Given the description of an element on the screen output the (x, y) to click on. 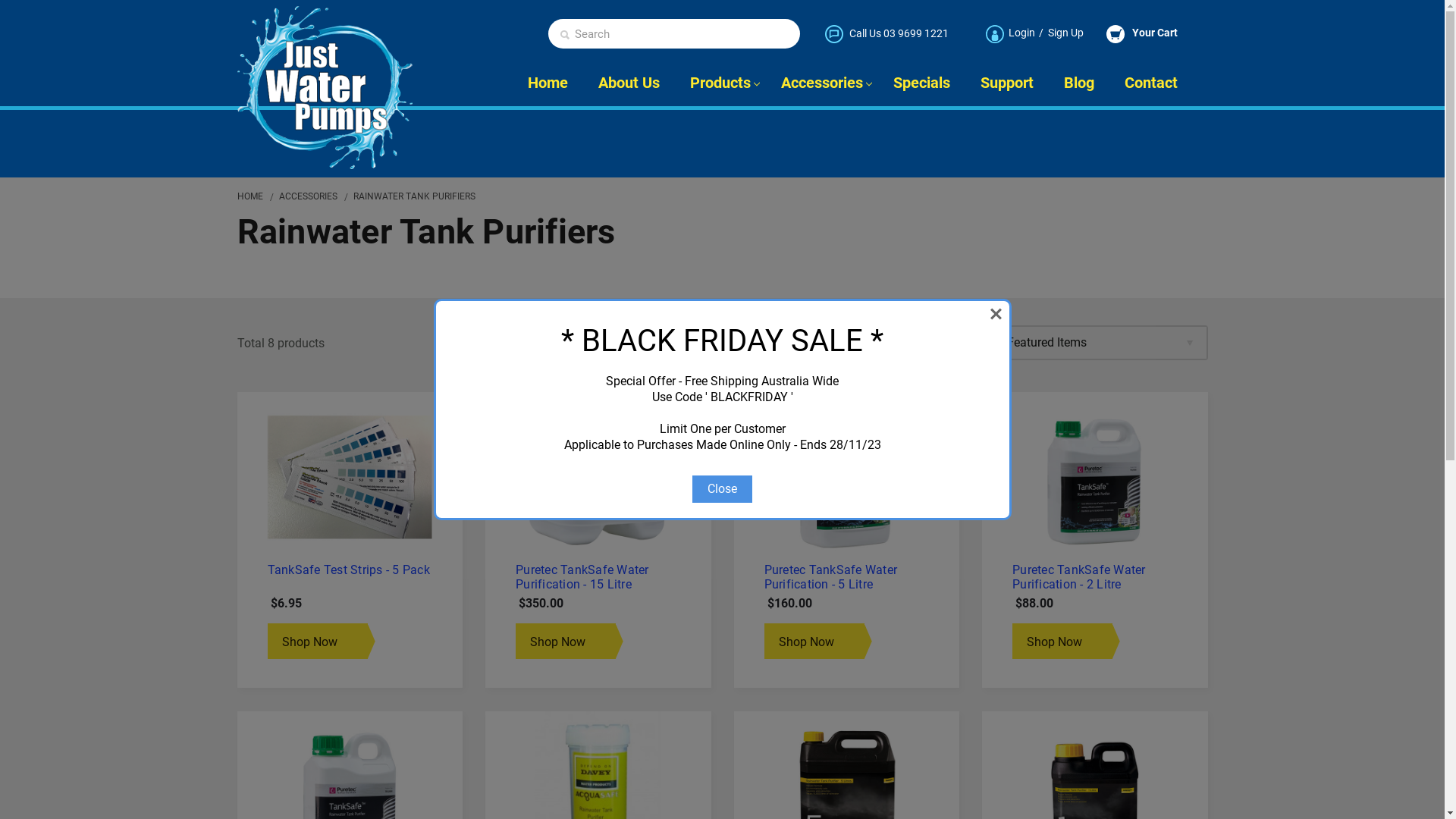
Specials Element type: text (921, 83)
Accessories Element type: text (821, 83)
Close Element type: text (722, 488)
Shop Now Element type: text (316, 640)
Login Element type: text (1021, 32)
Just Water Pumps Element type: hover (323, 87)
Support Element type: text (1006, 83)
TankSafe Test Strips - 5 Pack Element type: hover (349, 477)
ACCESSORIES Element type: text (308, 196)
Puretec TankSafe Water Purification - 2 Litre Element type: text (1078, 576)
Sign Up Element type: text (1065, 32)
Blog Element type: text (1078, 83)
About Us Element type: text (628, 83)
Contact Element type: text (1157, 83)
Puretec TankSafe Water Purification - 2 Litre Element type: hover (1094, 477)
HOME Element type: text (249, 196)
Shop Now Element type: text (565, 640)
Puretec TankSafe Water Purification - 15 Litre Element type: hover (597, 477)
TankSafe Test Strips - 5 Pack Element type: text (347, 569)
Your Cart Element type: text (1151, 32)
Products Element type: text (719, 83)
Puretec TankSafe Water Purification - 5 Litre Element type: text (830, 576)
Shop Now Element type: text (814, 640)
Puretec TankSafe Water Purification - 15 Litre Element type: text (582, 576)
Search Element type: text (563, 34)
Home Element type: text (547, 83)
03 9699 1221 Element type: text (914, 32)
Puretec TankSafe Water Purification - 5 Litre Element type: hover (846, 477)
Shop Now Element type: text (1062, 640)
